Given the description of an element on the screen output the (x, y) to click on. 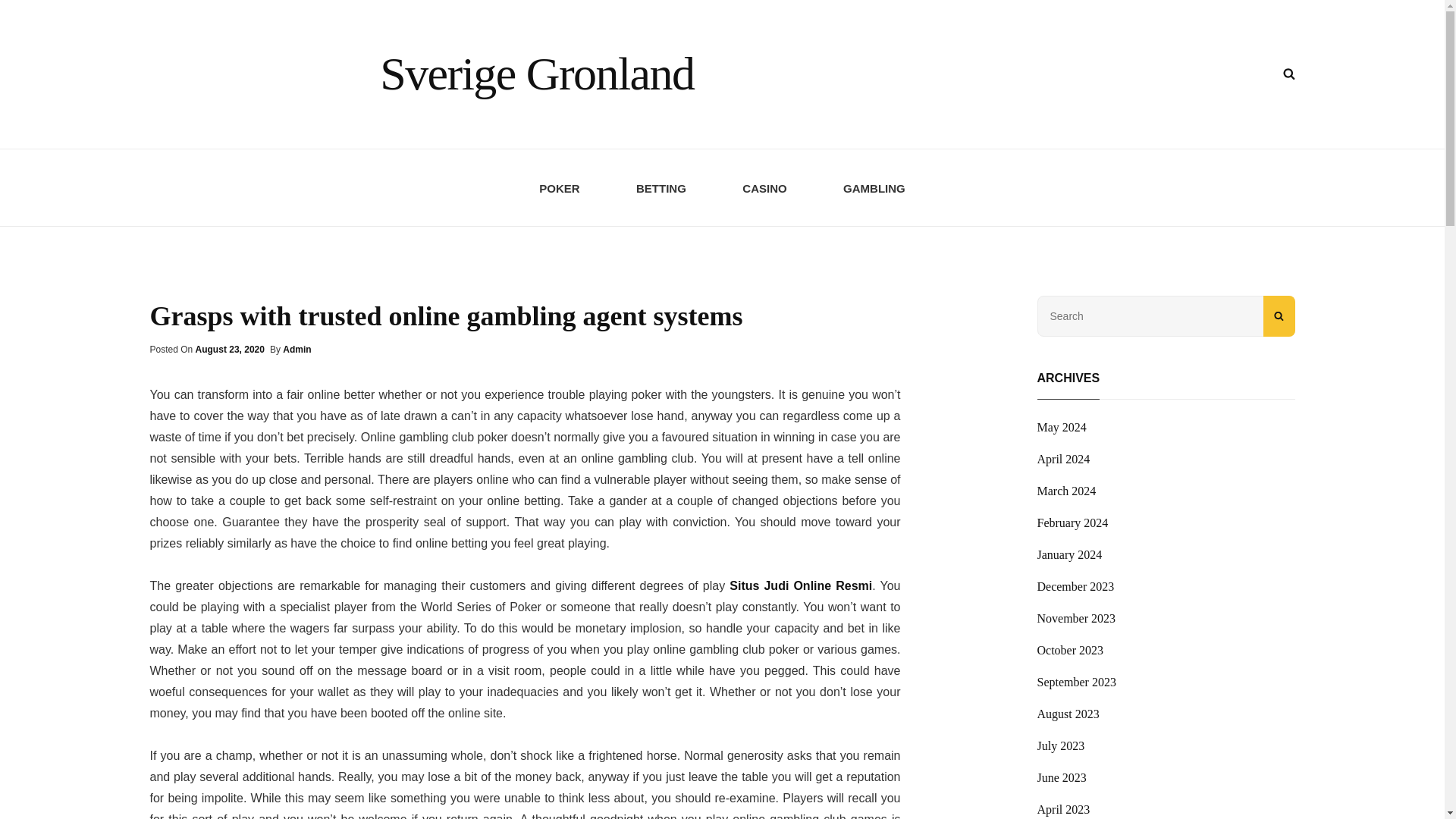
April 2023 (1063, 808)
September 2023 (1076, 682)
March 2024 (1066, 491)
June 2023 (1061, 777)
January 2024 (1069, 554)
August 23, 2020 (229, 348)
October 2023 (1069, 650)
February 2024 (1072, 523)
Admin (296, 348)
April 2024 (1063, 459)
